Given the description of an element on the screen output the (x, y) to click on. 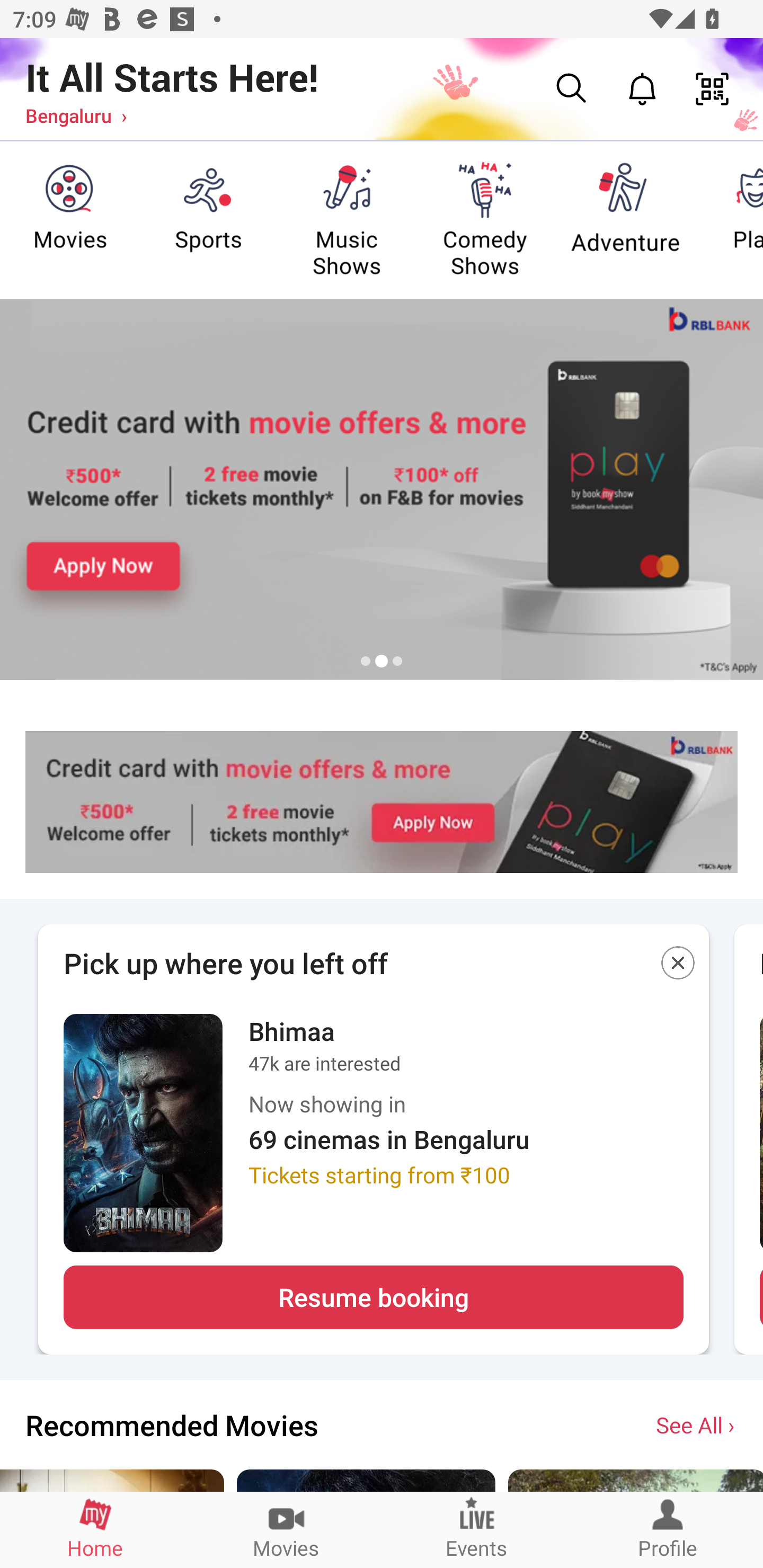
Bengaluru  › (76, 114)
  (678, 966)
Resume booking (373, 1297)
See All › (696, 1424)
Home (95, 1529)
Movies (285, 1529)
Events (476, 1529)
Profile (667, 1529)
